Given the description of an element on the screen output the (x, y) to click on. 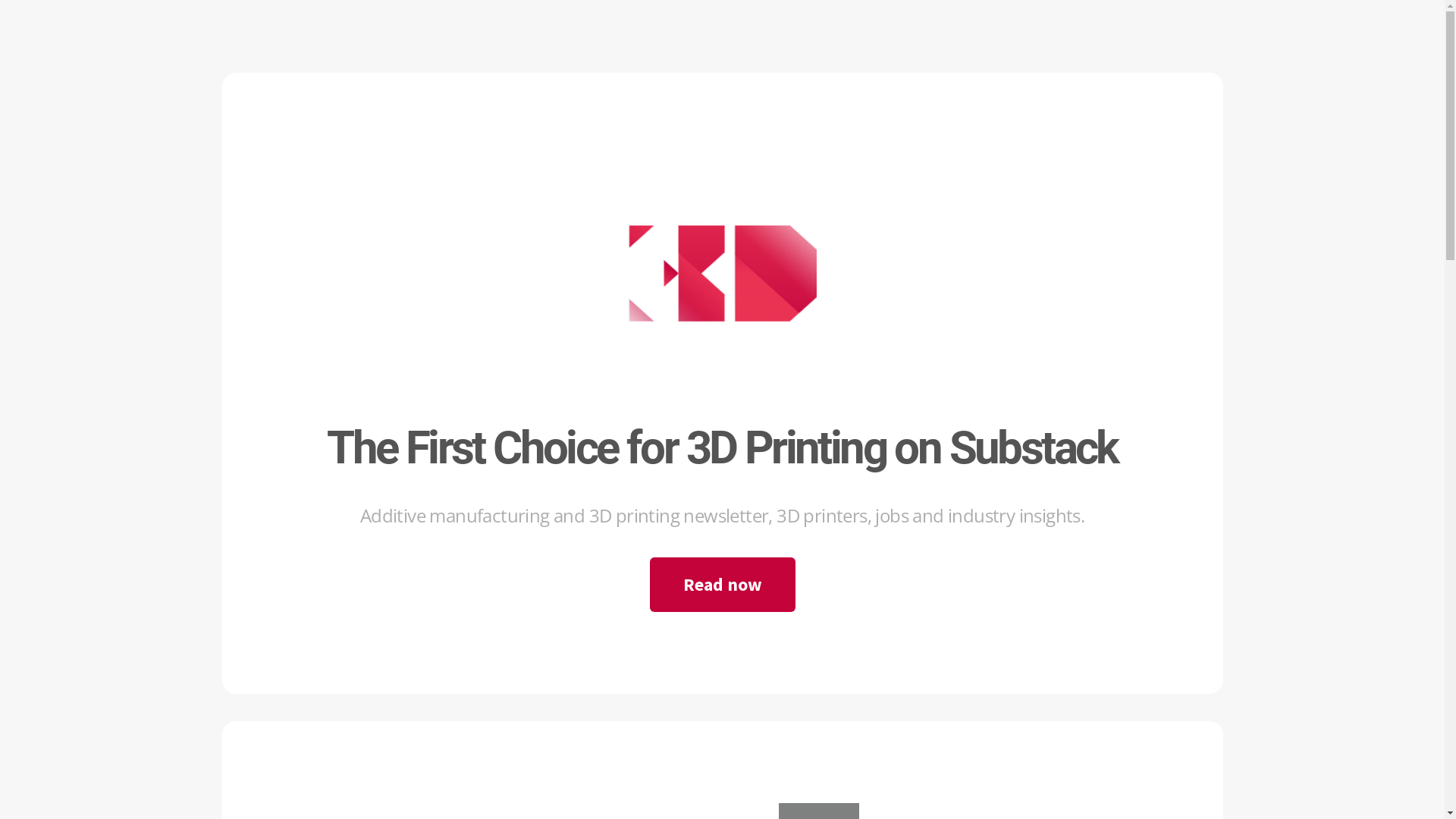
Read now Element type: text (721, 584)
